Given the description of an element on the screen output the (x, y) to click on. 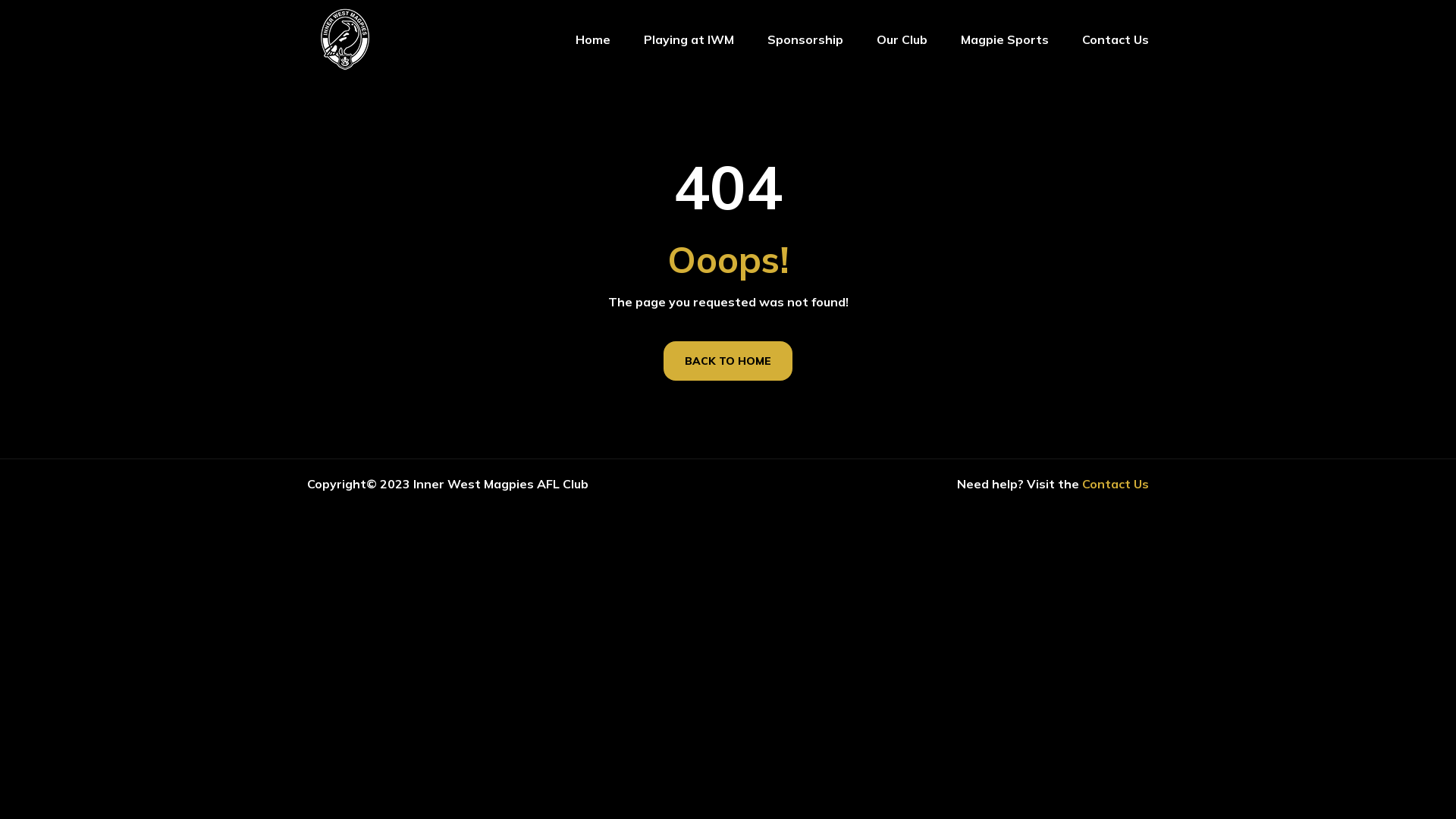
Magpie Sports Element type: text (1004, 39)
BACK TO HOME Element type: text (727, 360)
Sponsorship Element type: text (805, 39)
Contact Us Element type: text (1115, 39)
Our Club Element type: text (901, 39)
Inner West Magpies AFL Club Element type: text (500, 483)
Home Element type: text (592, 39)
Playing at IWM Element type: text (688, 39)
Contact Us Element type: text (1115, 483)
